Given the description of an element on the screen output the (x, y) to click on. 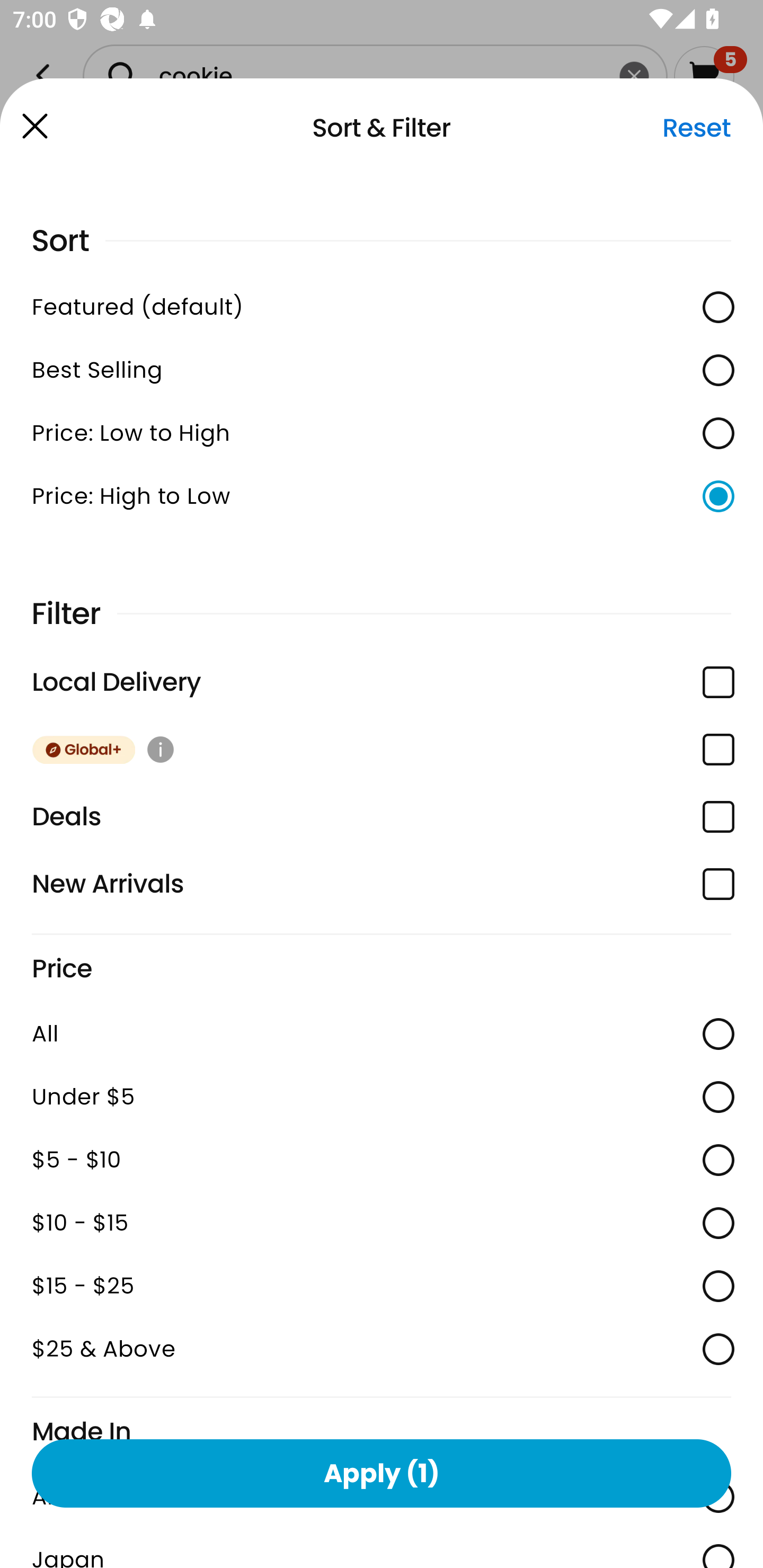
Reset (696, 127)
Apply (1) (381, 1472)
